Given the description of an element on the screen output the (x, y) to click on. 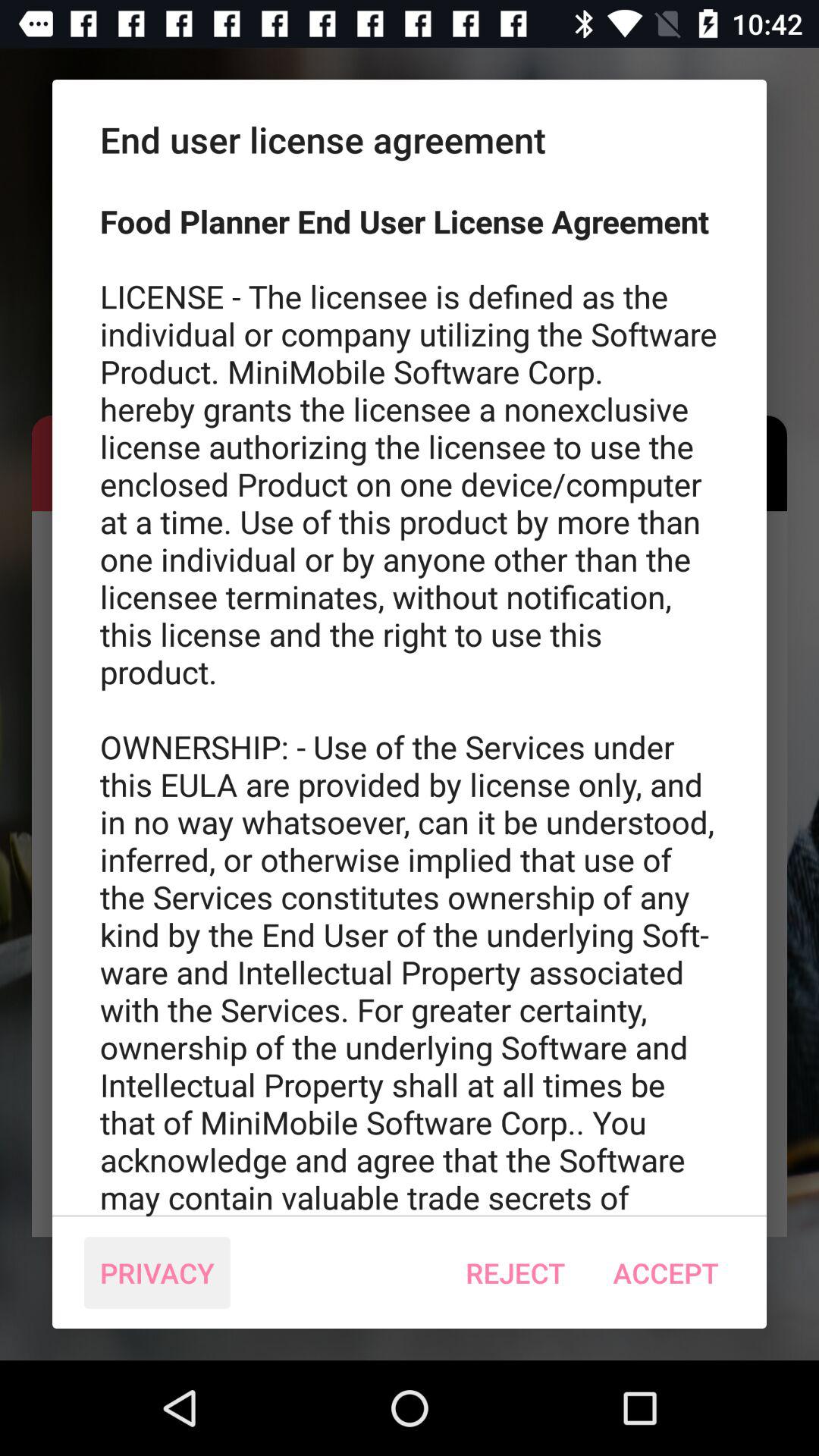
jump until the reject icon (515, 1272)
